Given the description of an element on the screen output the (x, y) to click on. 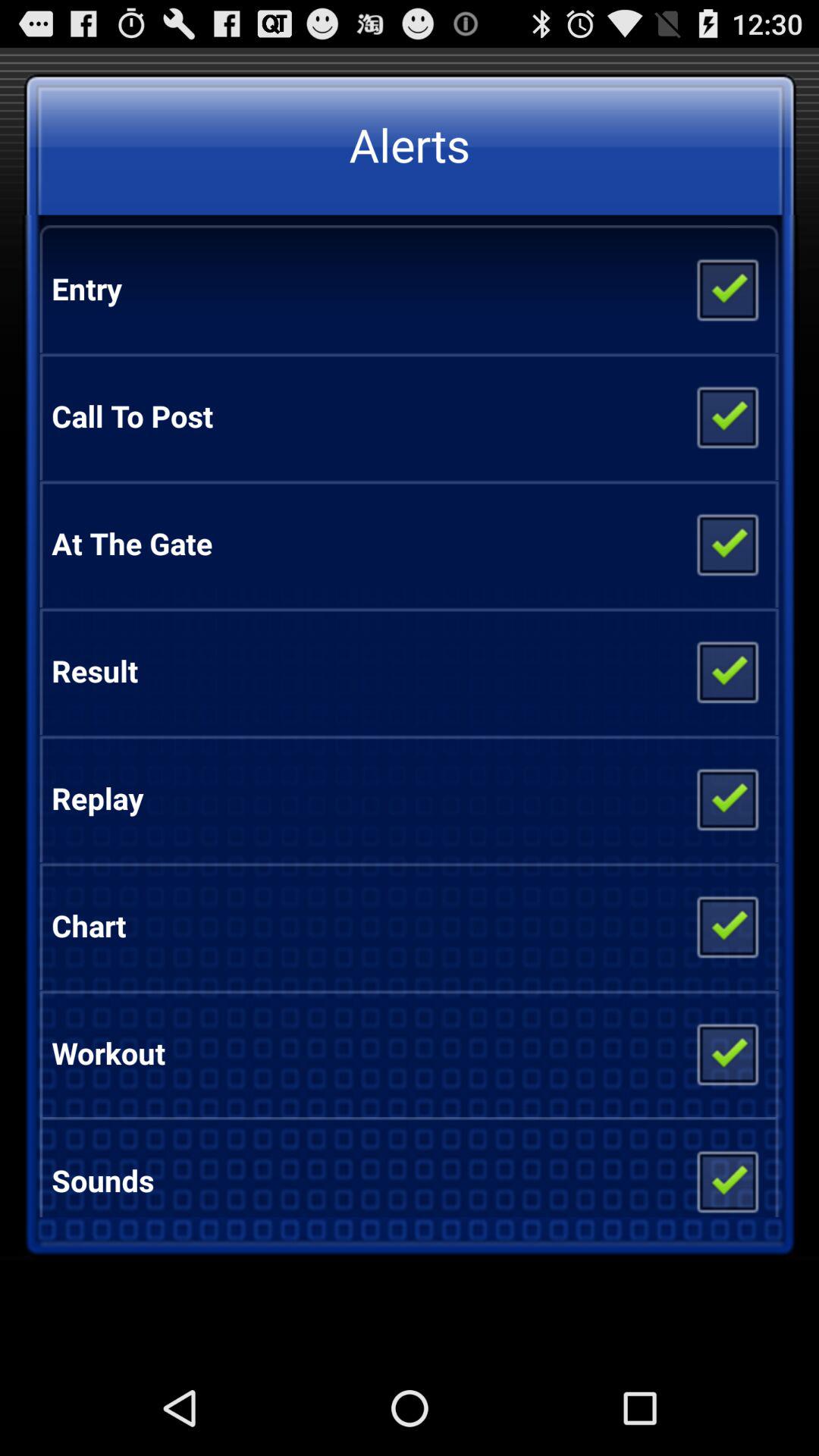
turn on item to the right of the sounds (726, 1174)
